Given the description of an element on the screen output the (x, y) to click on. 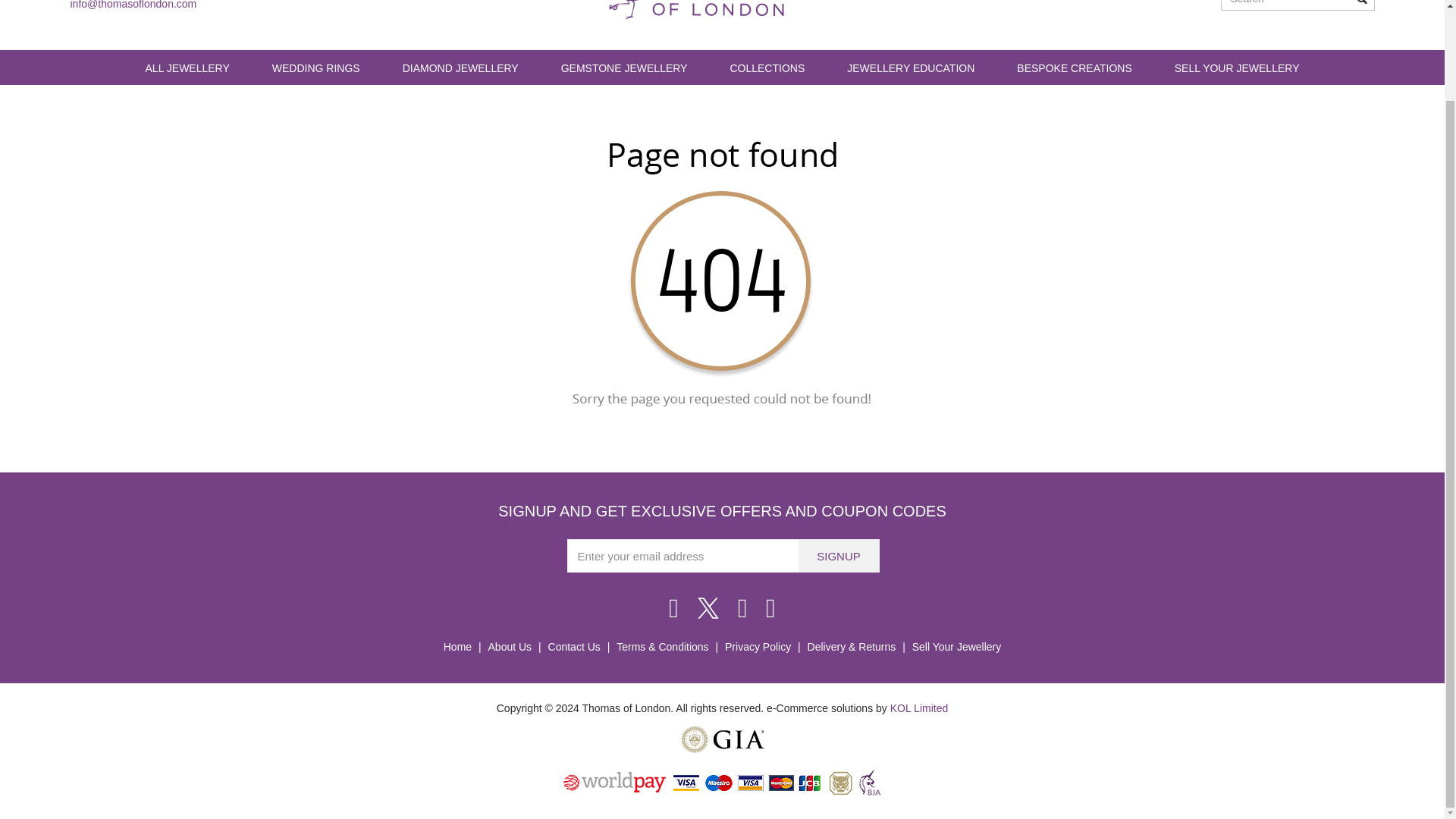
signup (838, 555)
